Given the description of an element on the screen output the (x, y) to click on. 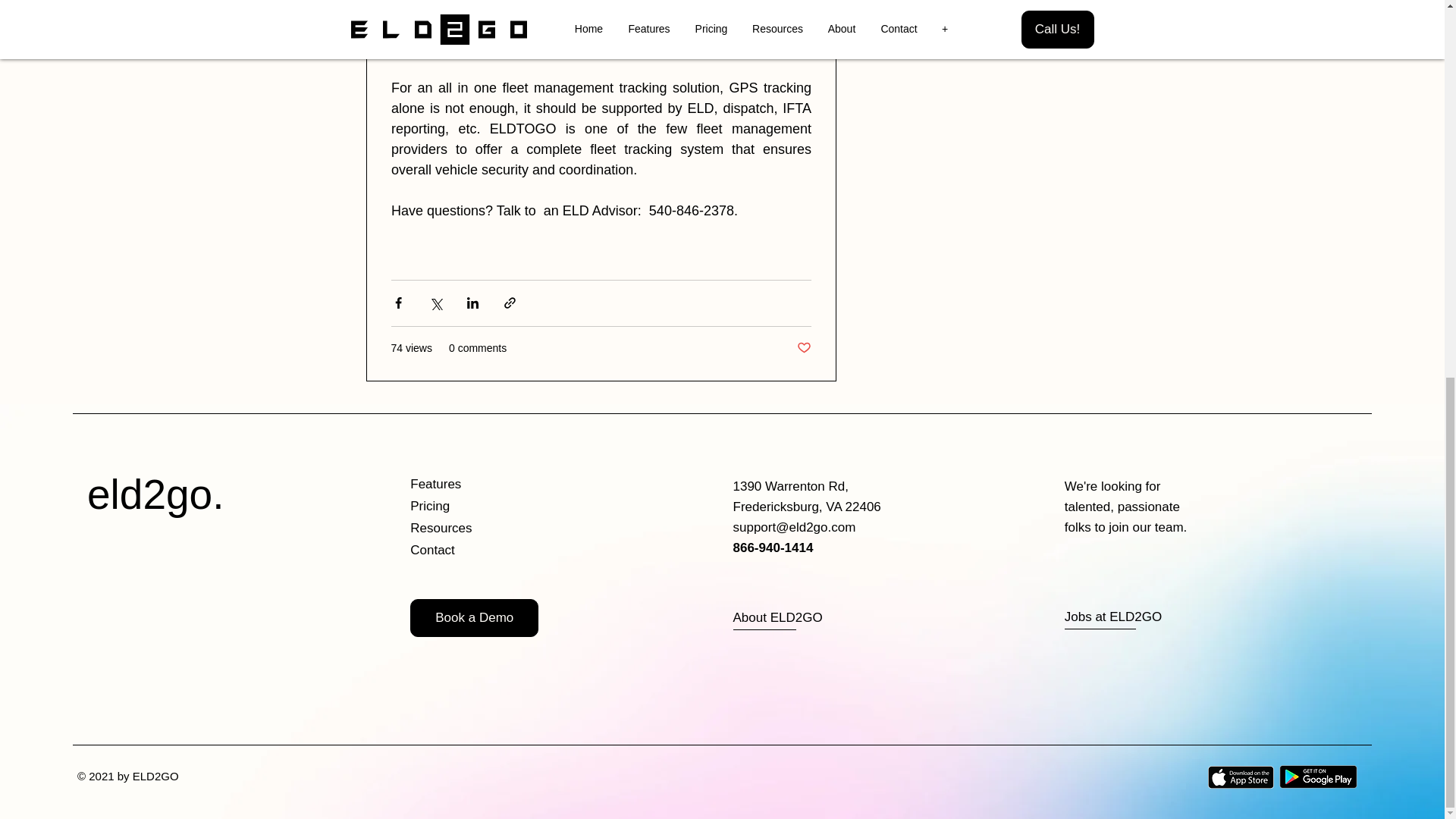
About ELD2GO (788, 618)
Features (464, 484)
Resources (464, 528)
Book a Demo (474, 617)
Post not marked as liked (803, 348)
Contact (464, 550)
Pricing (464, 506)
eld2go. (155, 493)
